Given the description of an element on the screen output the (x, y) to click on. 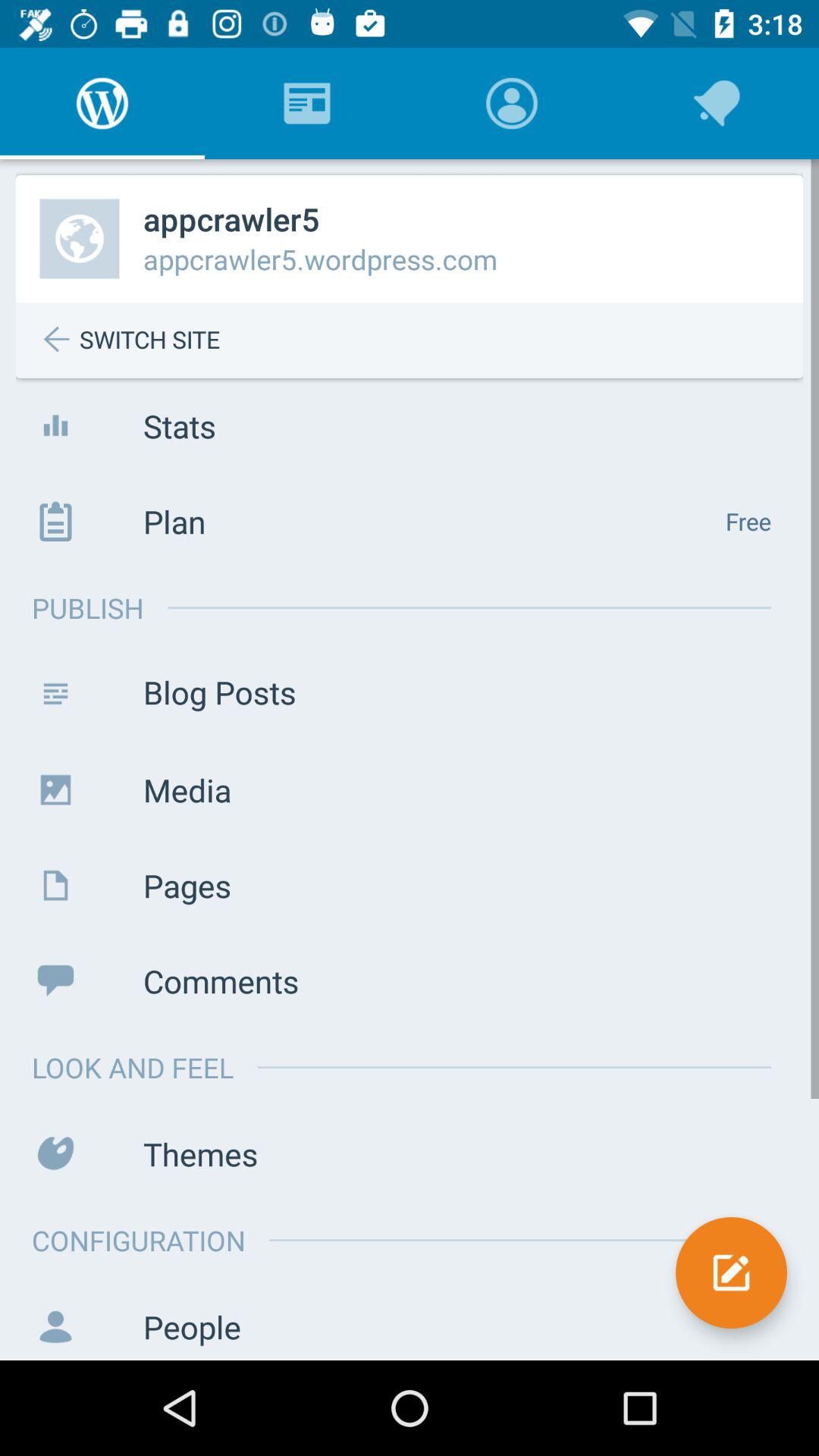
press icon next to configuration icon (731, 1272)
